Given the description of an element on the screen output the (x, y) to click on. 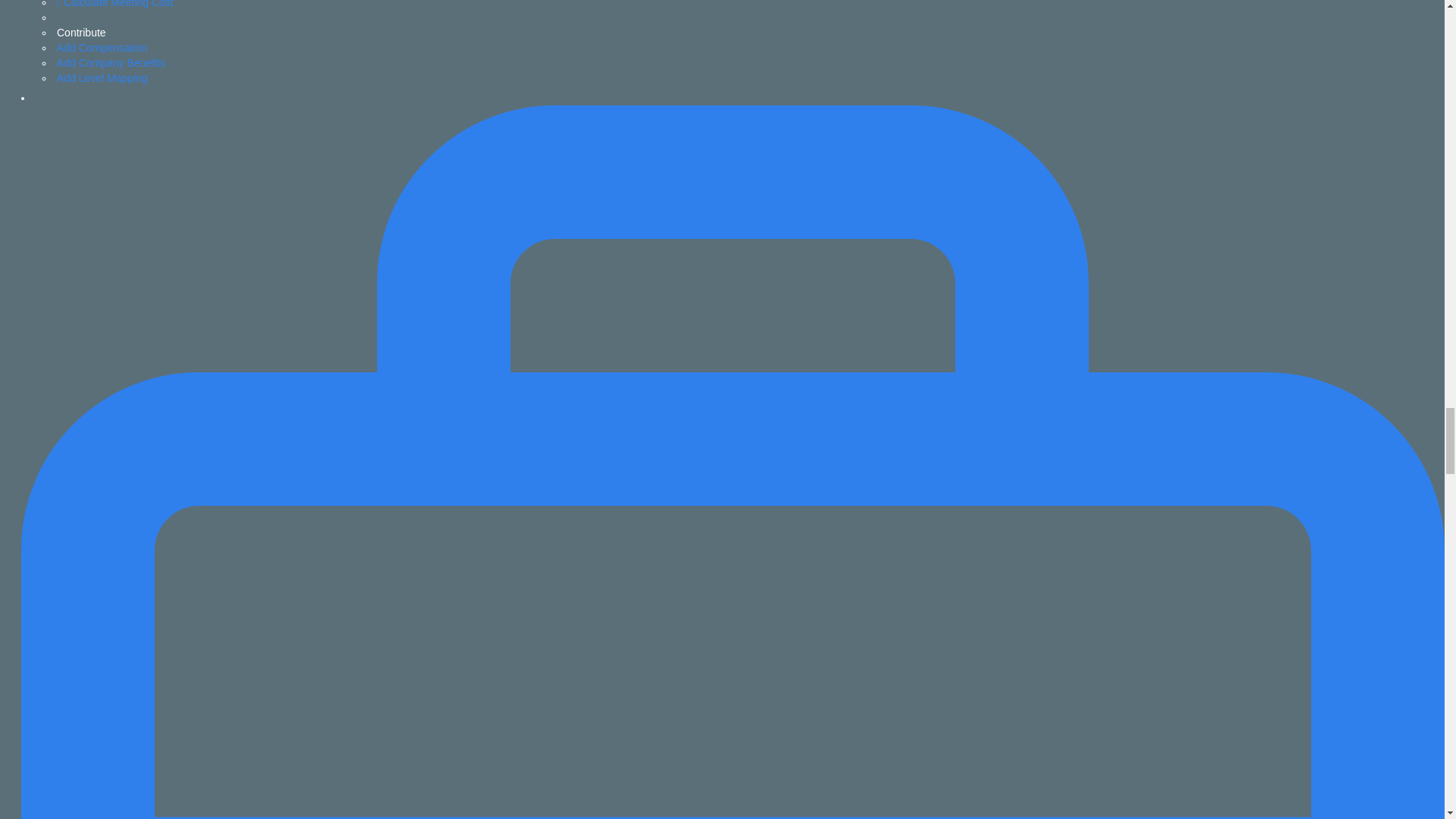
Add Compensation (101, 47)
Add Company Benefits (110, 62)
Add Level Mapping (102, 78)
